Given the description of an element on the screen output the (x, y) to click on. 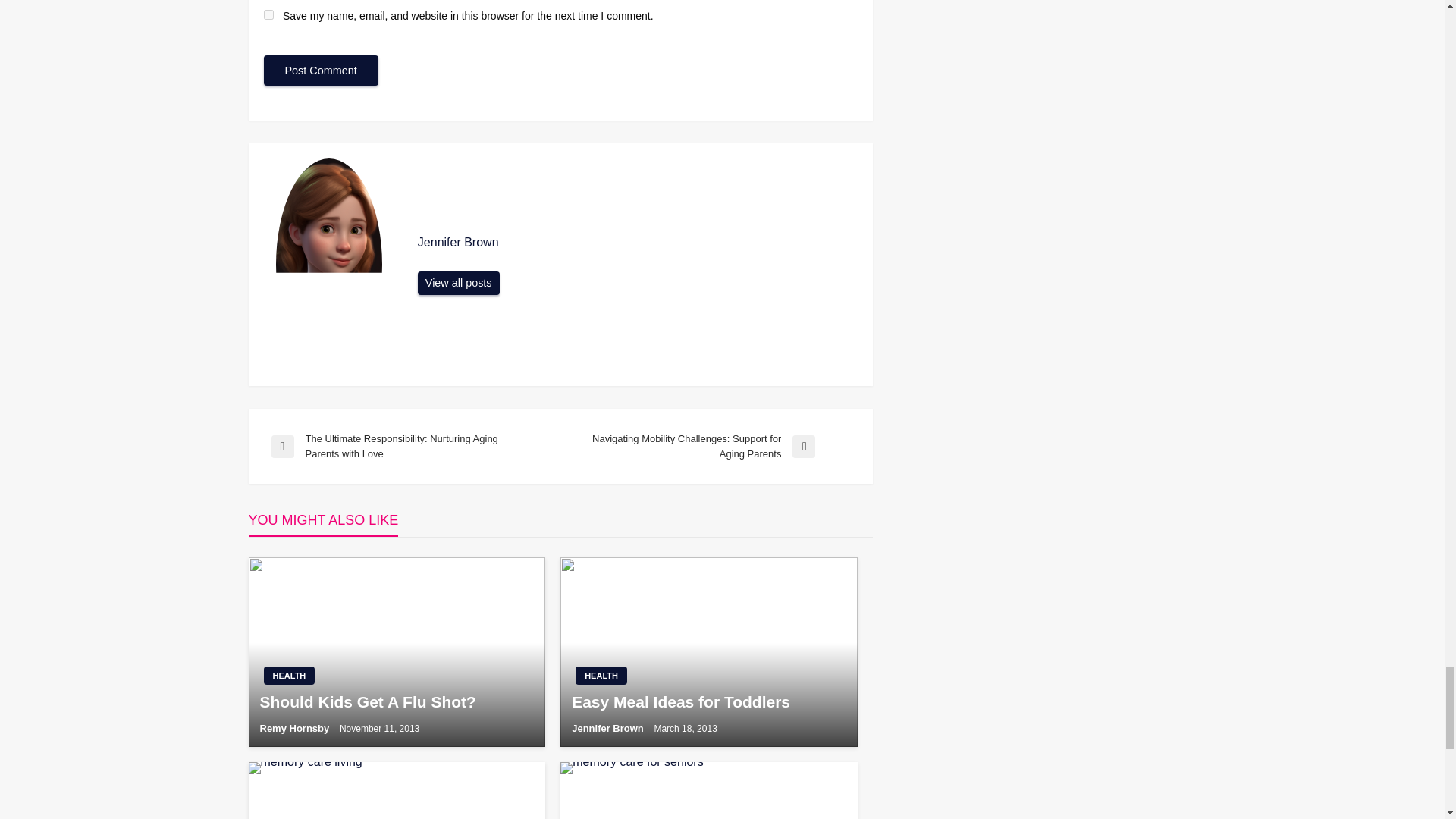
Jennifer Brown (458, 283)
yes (268, 14)
Jennifer Brown (637, 242)
Post Comment (320, 70)
